Given the description of an element on the screen output the (x, y) to click on. 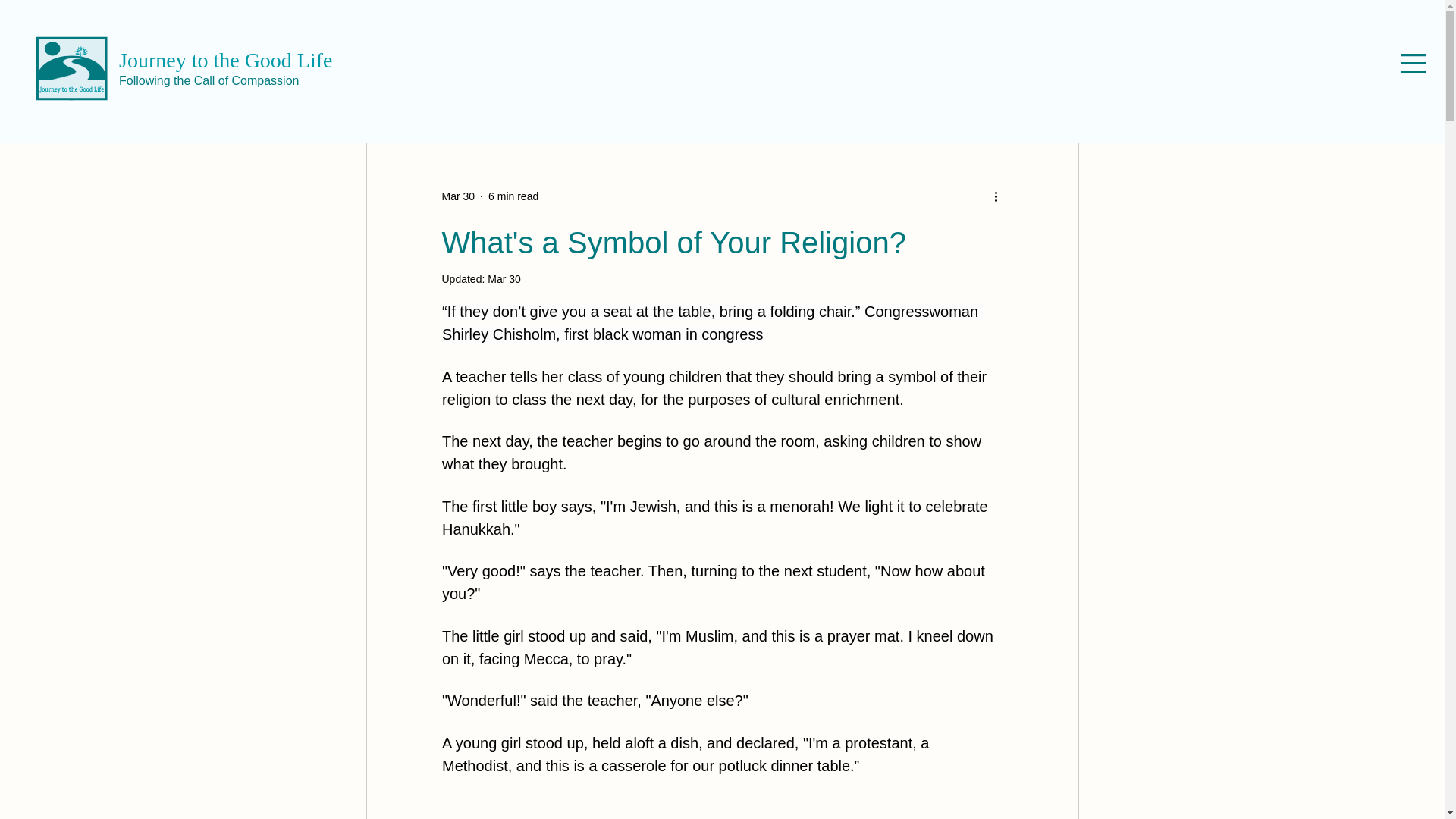
Journey to the Good Life (226, 60)
Mar 30 (457, 195)
Mar 30 (504, 278)
6 min read (512, 195)
Following the Call of Compassion (208, 80)
